Given the description of an element on the screen output the (x, y) to click on. 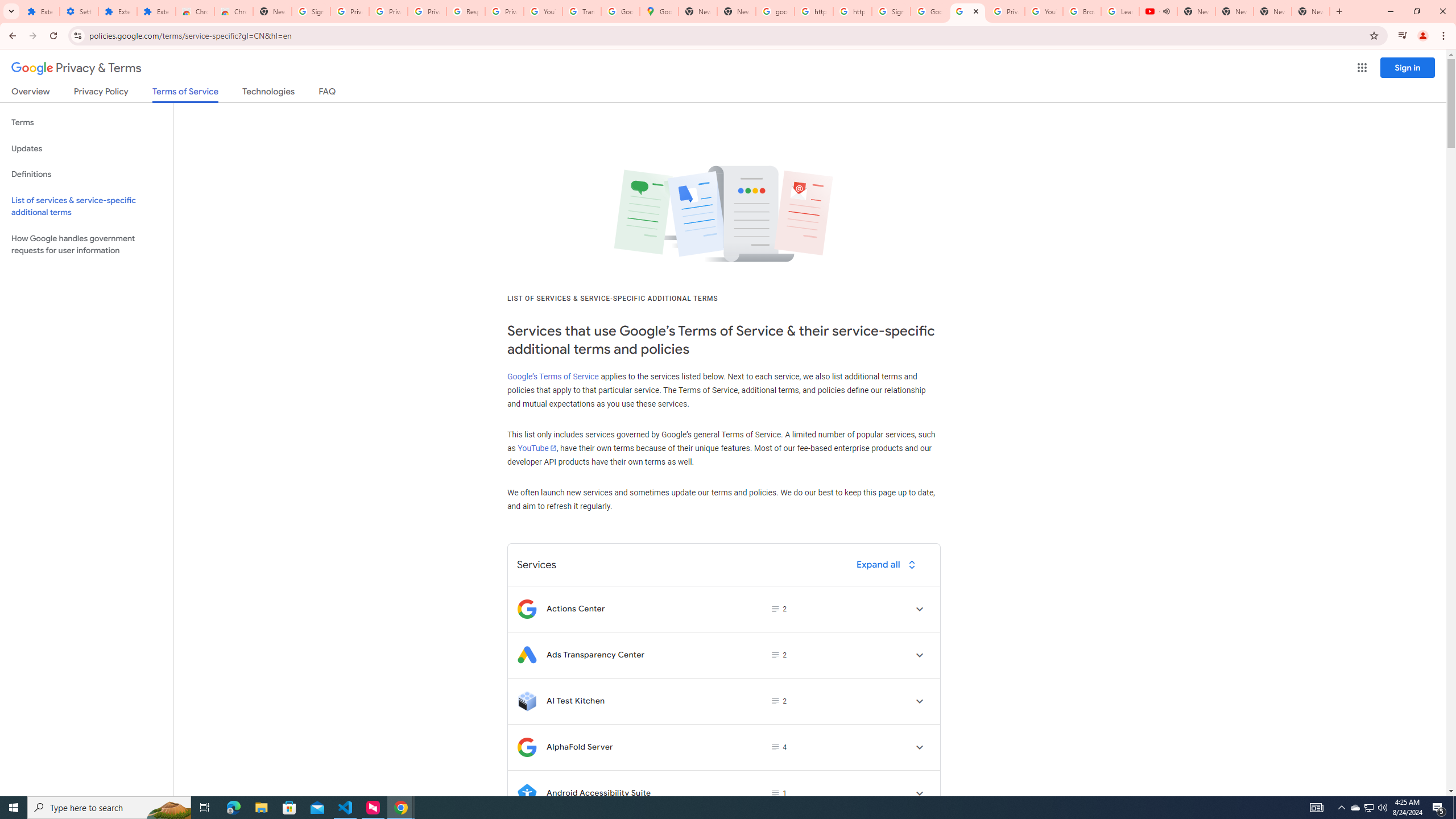
https://scholar.google.com/ (852, 11)
Google Maps (659, 11)
YouTube (536, 447)
Logo for Android Accessibility Suite (526, 792)
Sign in - Google Accounts (890, 11)
